Given the description of an element on the screen output the (x, y) to click on. 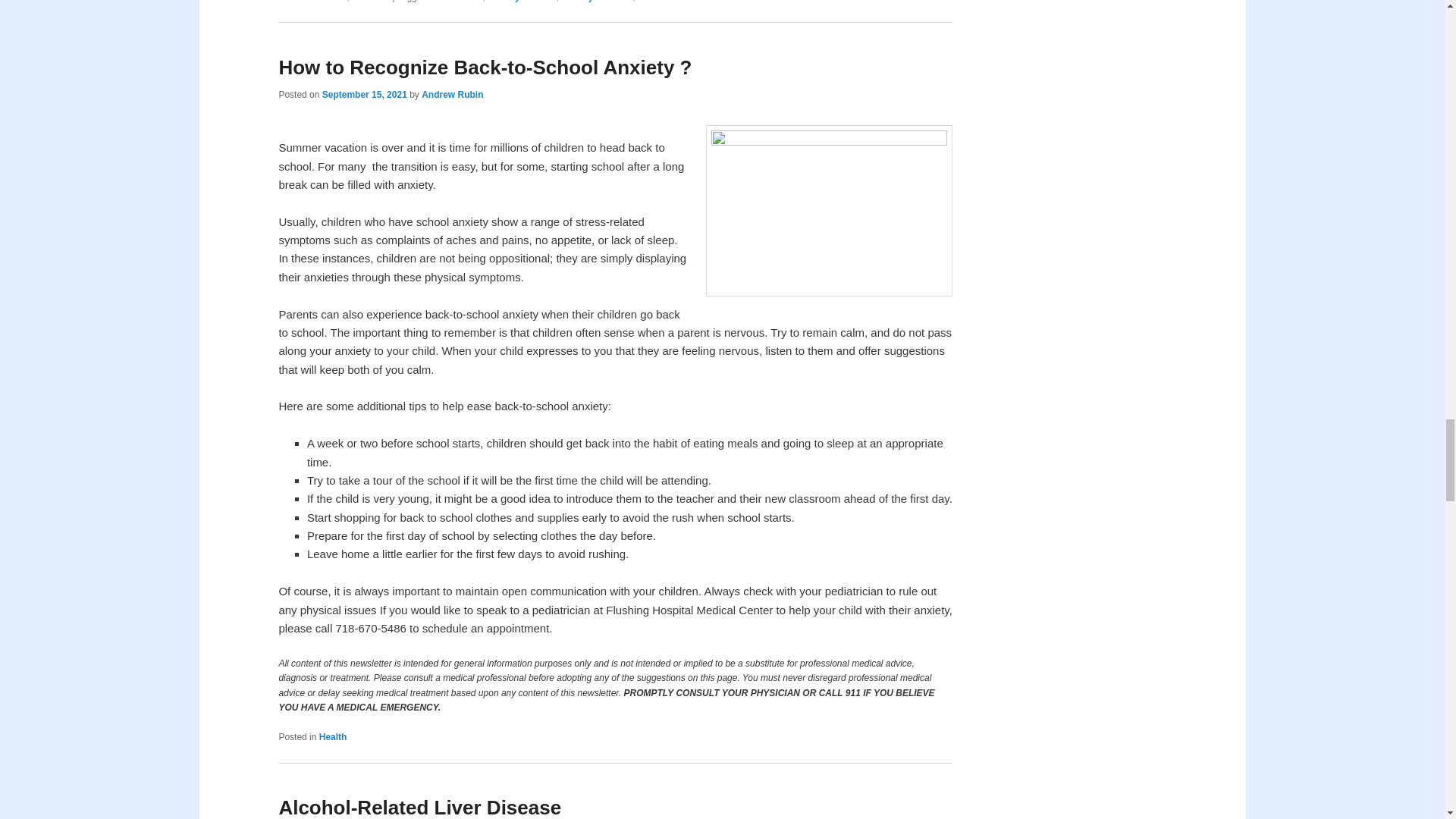
Nutrition (371, 1)
nutrition (656, 1)
Health (332, 1)
healthy choices (521, 1)
View all posts by Andrew Rubin (452, 94)
healthy nutrition (595, 1)
How to Recognize Back-to-School Anxiety ? (484, 67)
5:07 pm (364, 94)
comfortfood (456, 1)
